Given the description of an element on the screen output the (x, y) to click on. 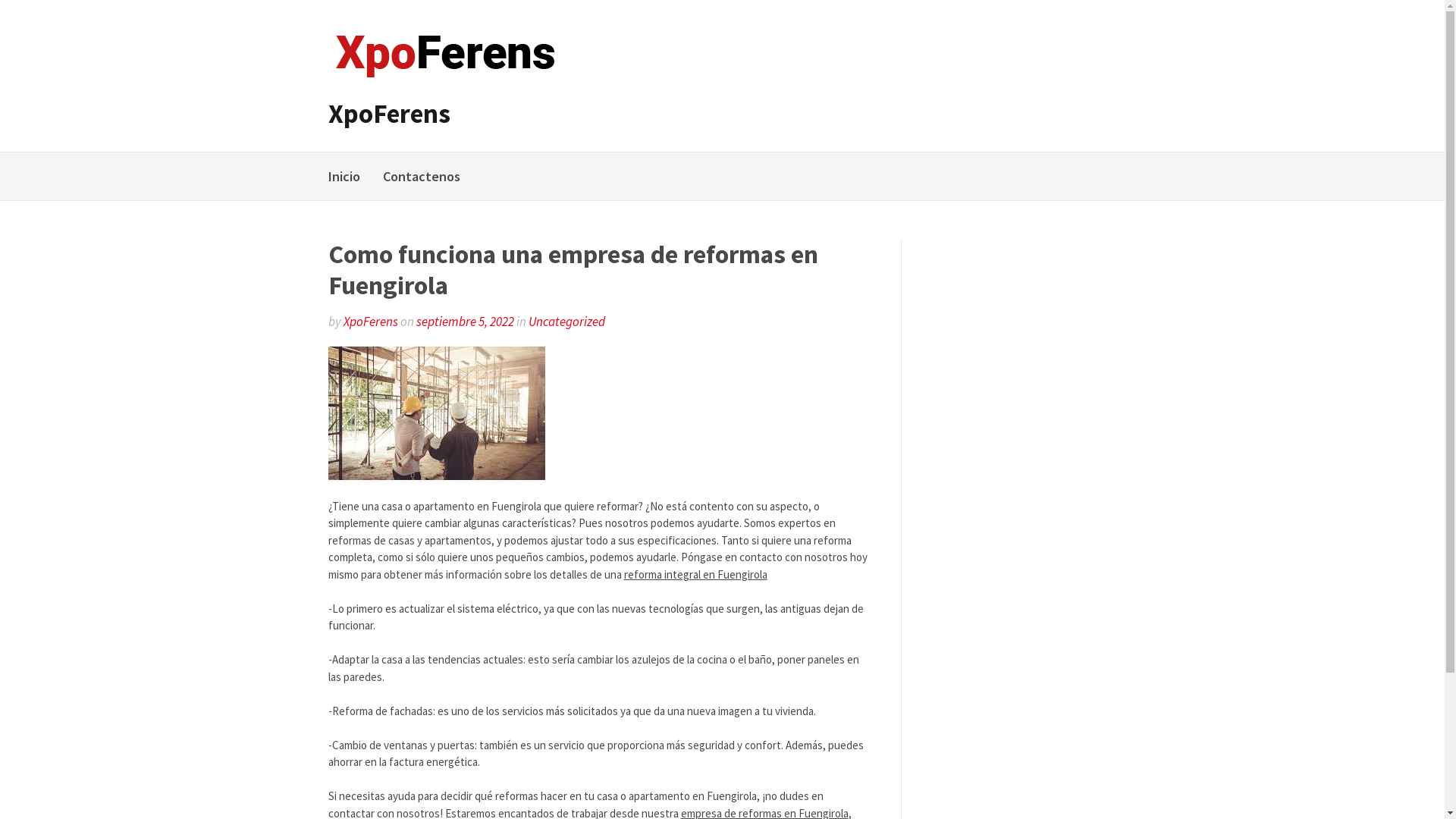
XpoFerens Element type: text (388, 113)
septiembre 5, 2022 Element type: text (464, 321)
reforma integral en Fuengirola Element type: text (694, 574)
Contactenos Element type: text (420, 176)
Inicio Element type: text (343, 176)
XpoFerens Element type: text (369, 321)
Uncategorized Element type: text (565, 321)
